Given the description of an element on the screen output the (x, y) to click on. 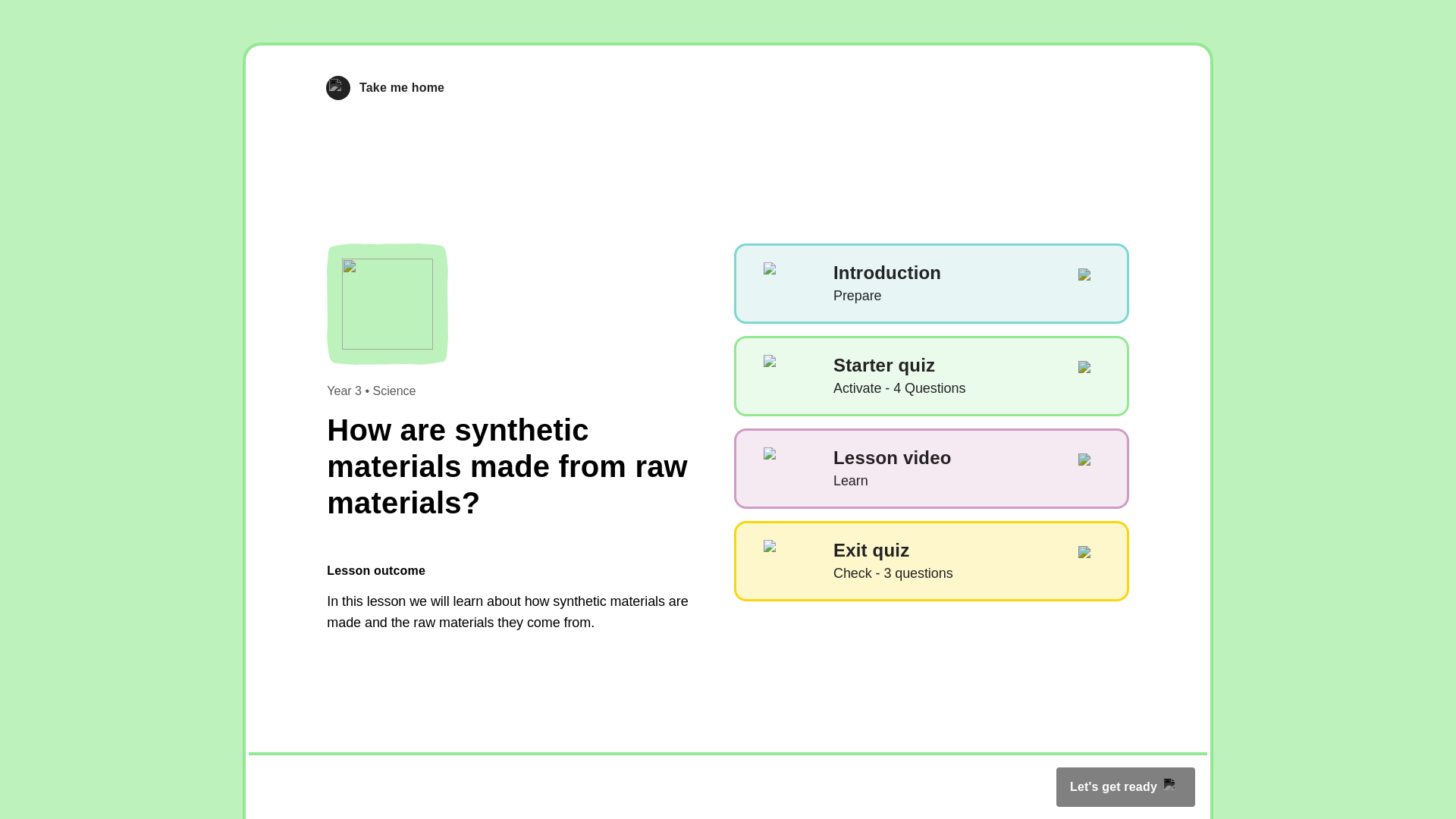
Let's get ready (1126, 786)
Take me home (931, 375)
